Given the description of an element on the screen output the (x, y) to click on. 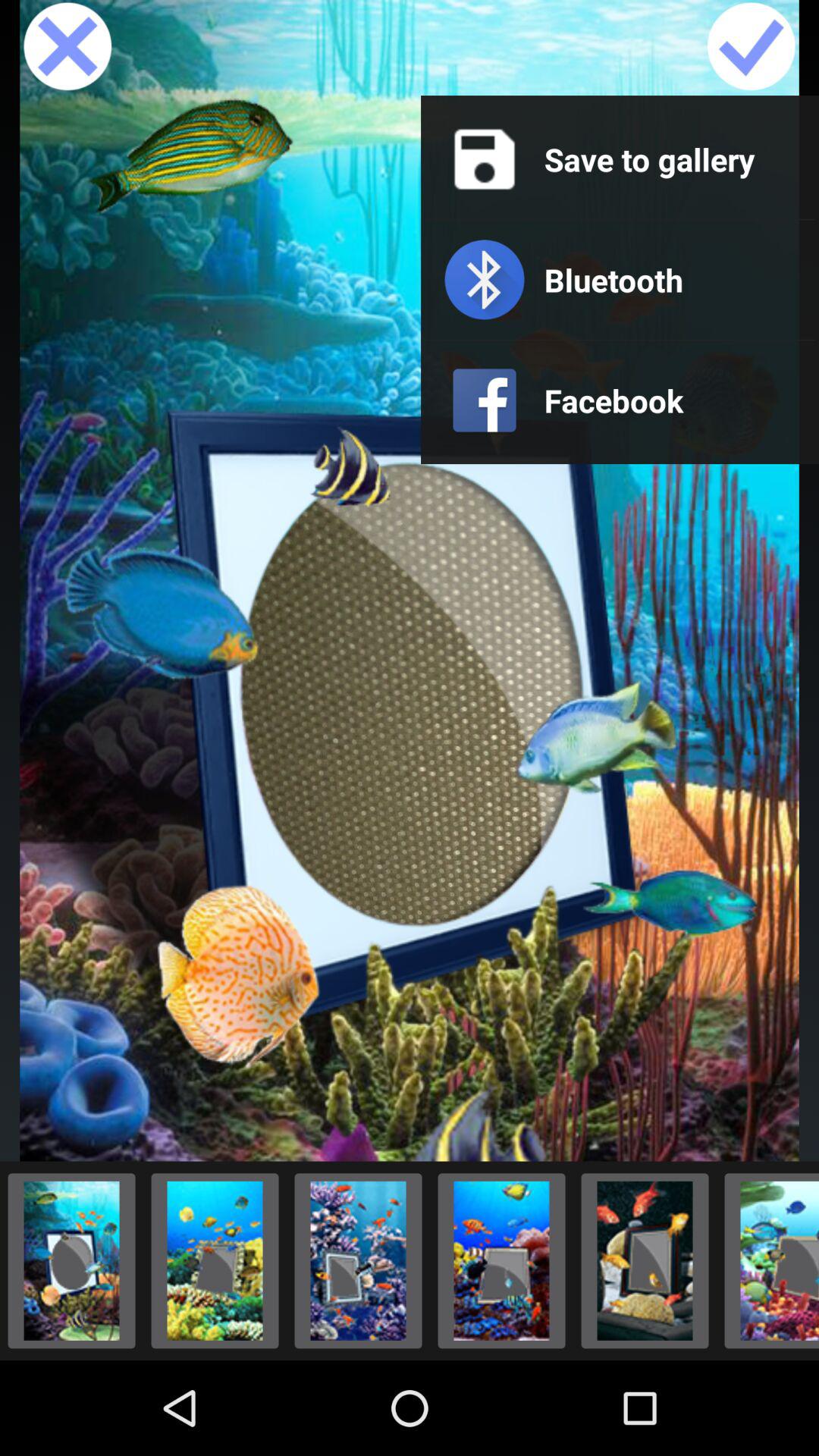
select the picture to display (644, 1260)
